Given the description of an element on the screen output the (x, y) to click on. 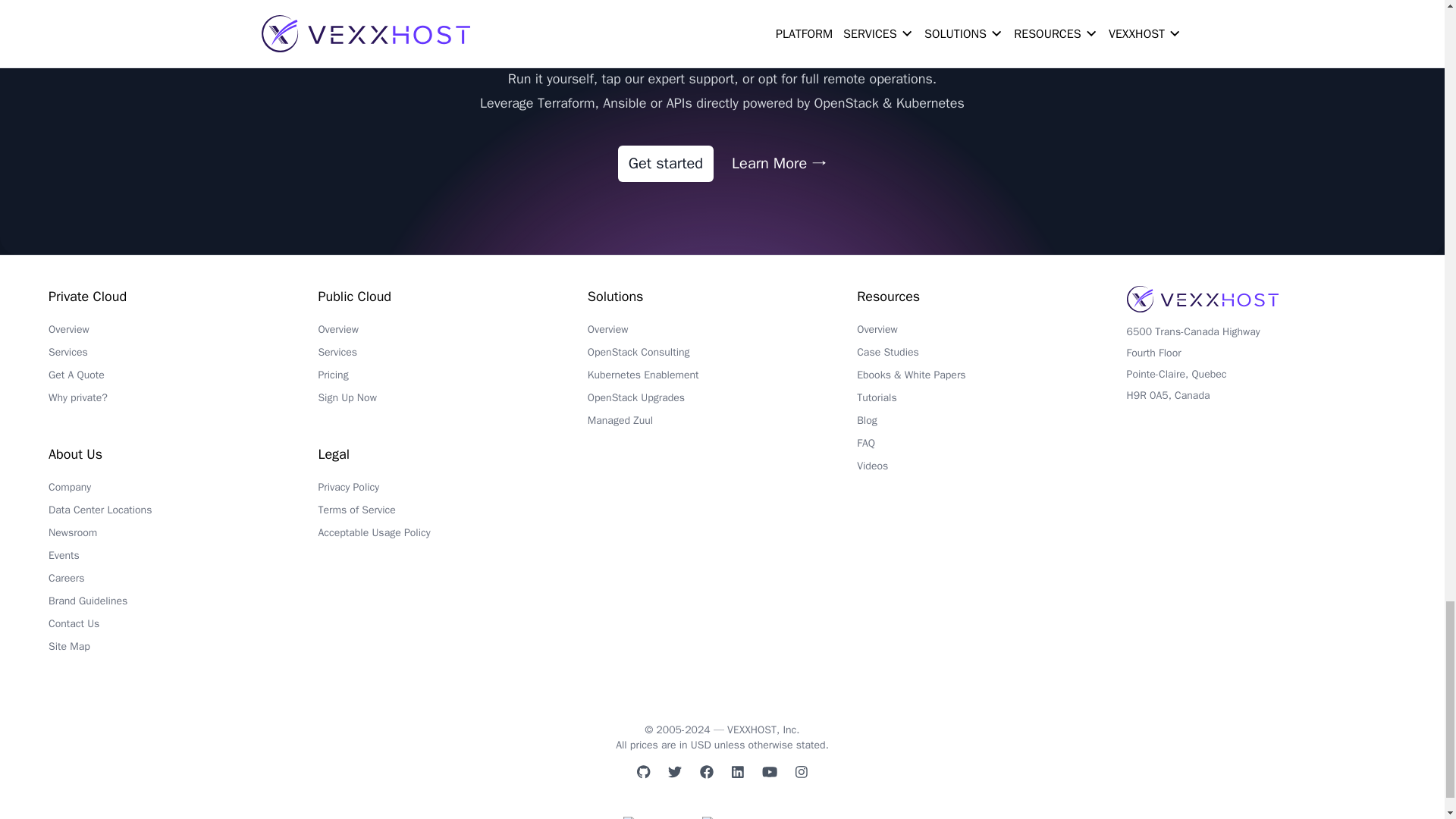
Get A Quote (182, 378)
Overview (182, 333)
Get started (665, 163)
Events (182, 558)
Why private? (182, 401)
Newsroom (182, 536)
Data Center Locations (182, 513)
Services (182, 355)
Company (182, 490)
